Given the description of an element on the screen output the (x, y) to click on. 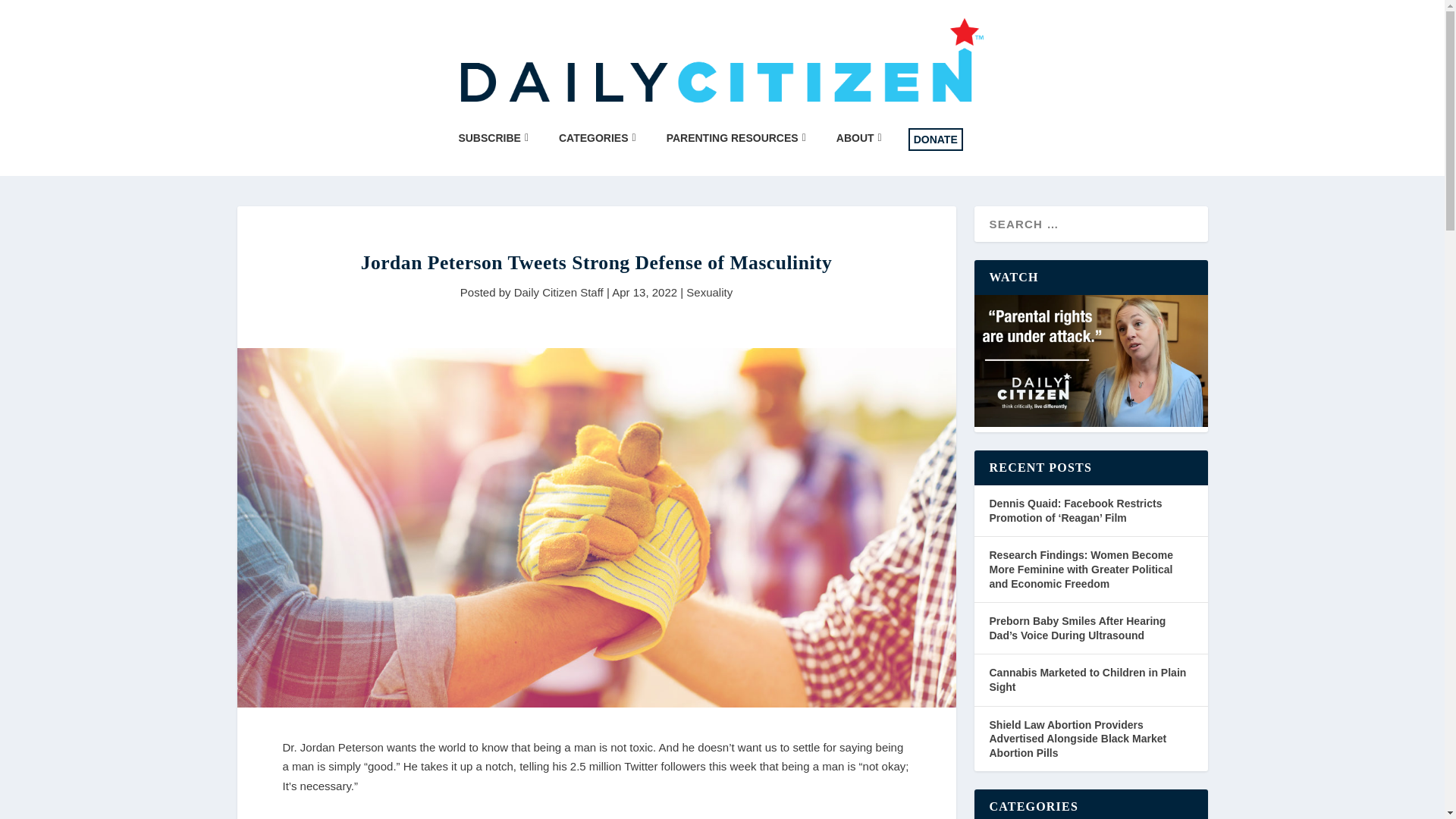
WATCH (1090, 359)
PARENTING RESOURCES (735, 137)
Posts by Daily Citizen Staff (558, 291)
Daily Citizen Staff (558, 291)
ABOUT (858, 137)
SUBSCRIBE (493, 137)
CATEGORIES (597, 137)
DONATE (935, 138)
